Given the description of an element on the screen output the (x, y) to click on. 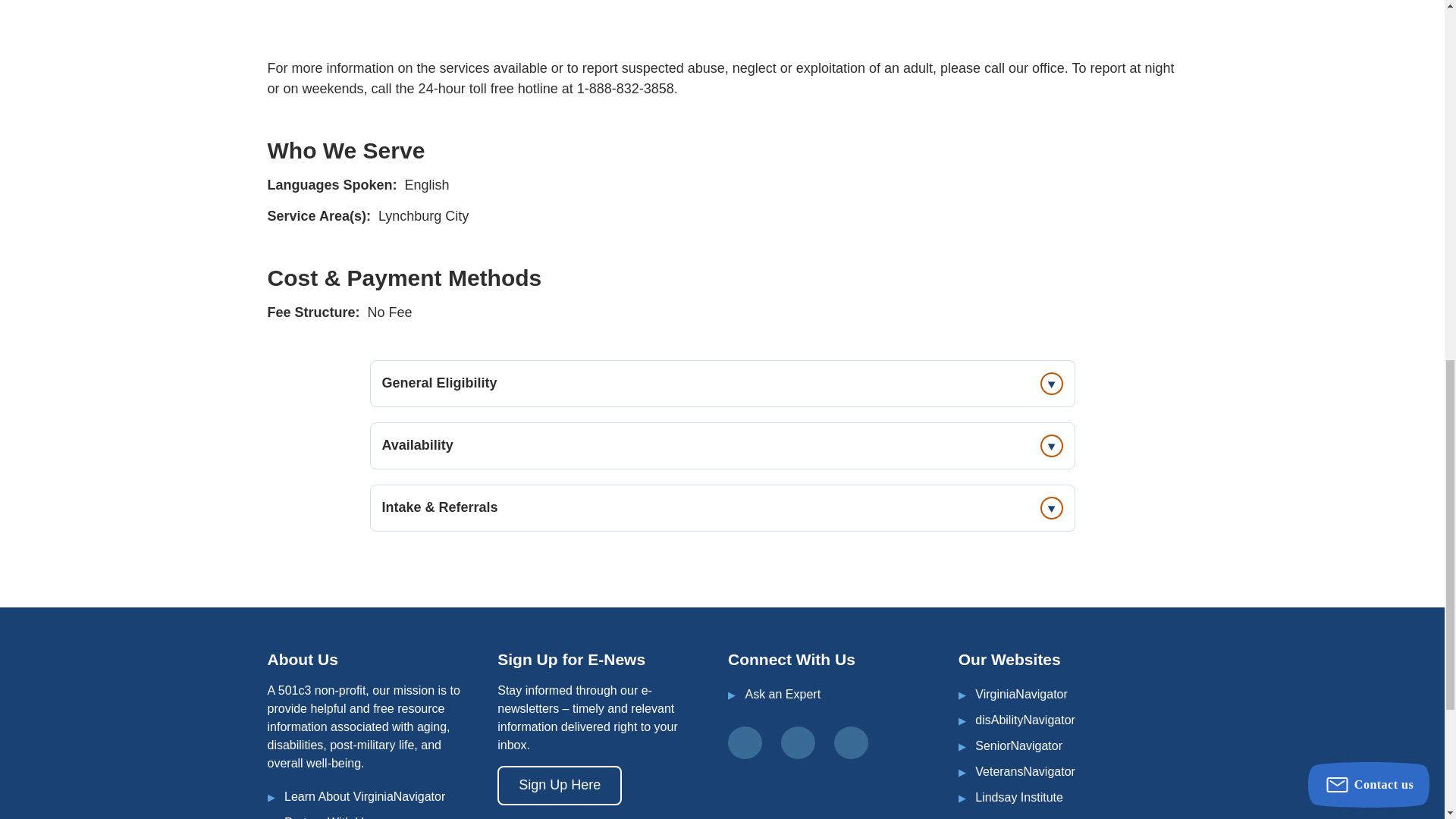
About Us (364, 796)
